Given the description of an element on the screen output the (x, y) to click on. 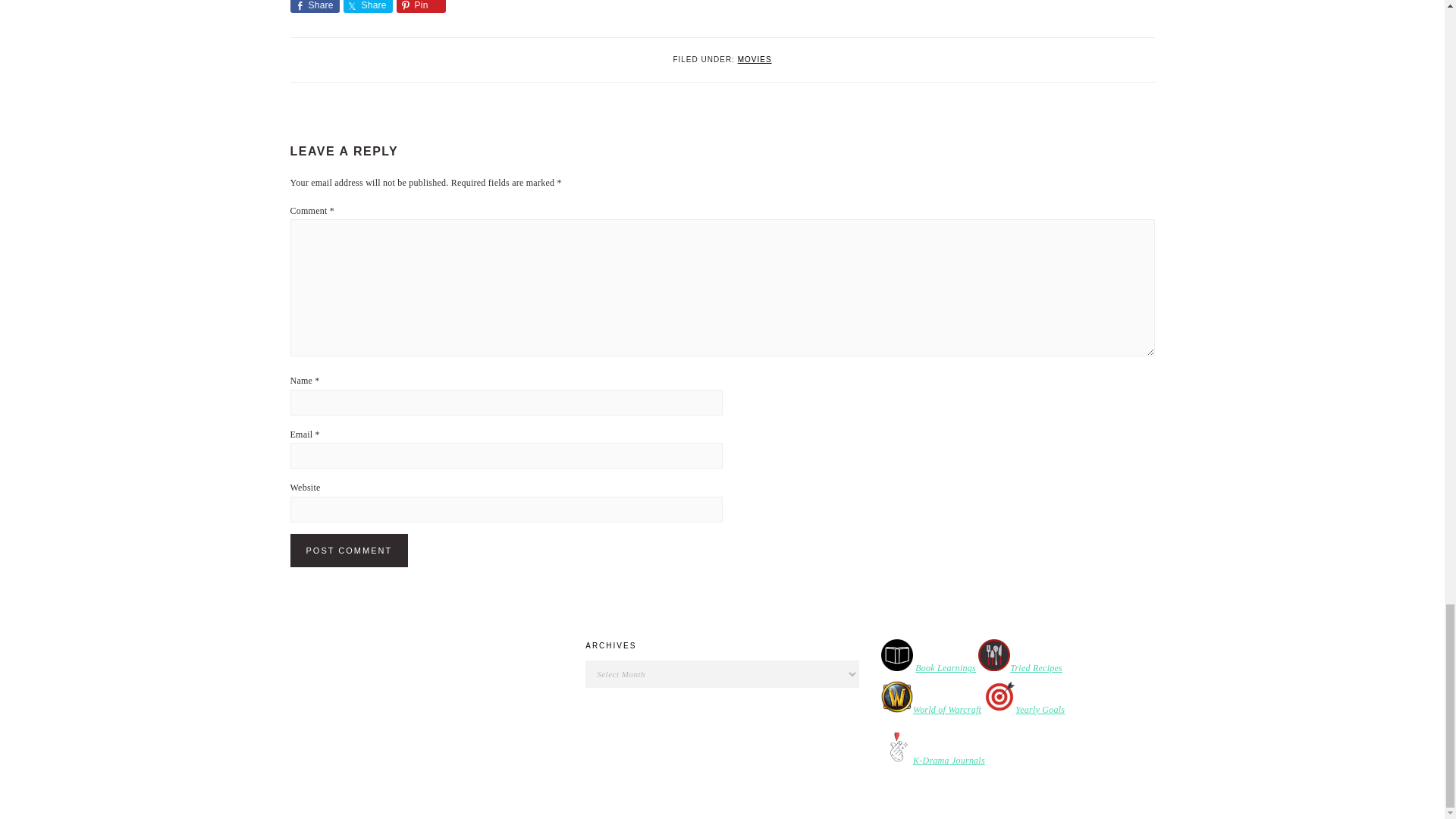
MOVIES (754, 59)
Pin (420, 6)
Share (314, 6)
Post Comment (348, 550)
Post Comment (348, 550)
Share (366, 6)
